Given the description of an element on the screen output the (x, y) to click on. 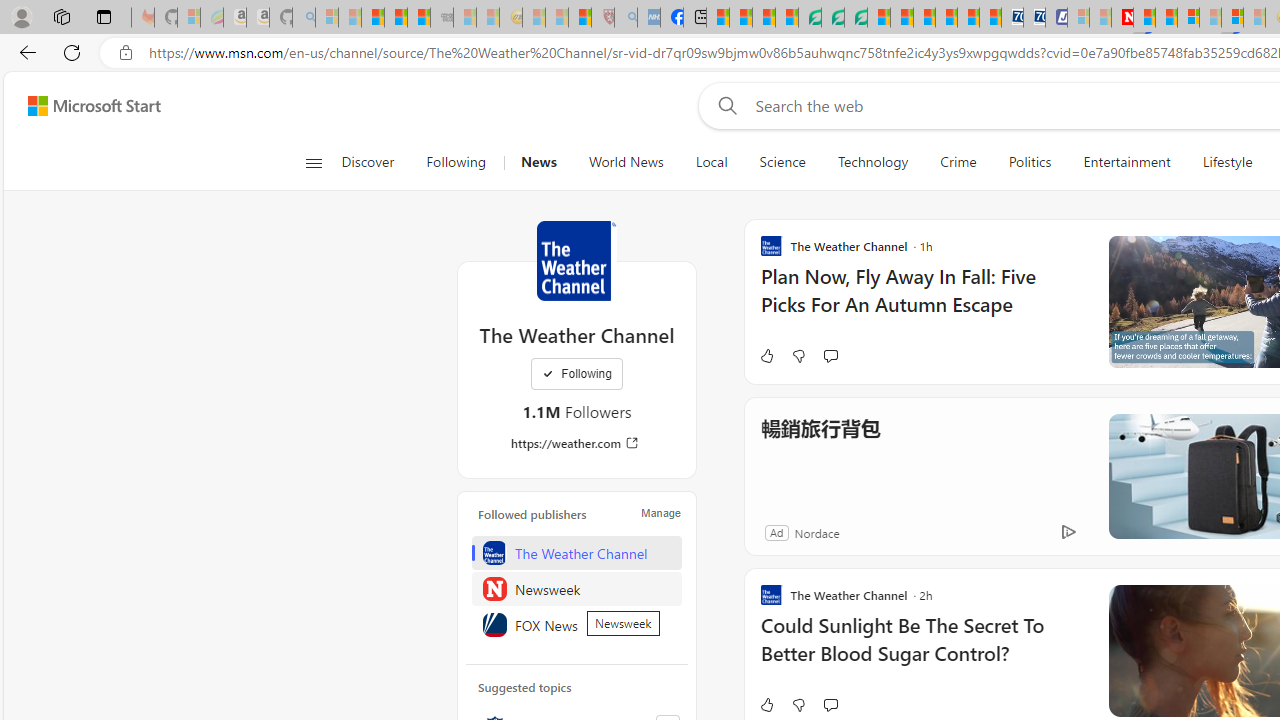
FOX News (577, 624)
